Given the description of an element on the screen output the (x, y) to click on. 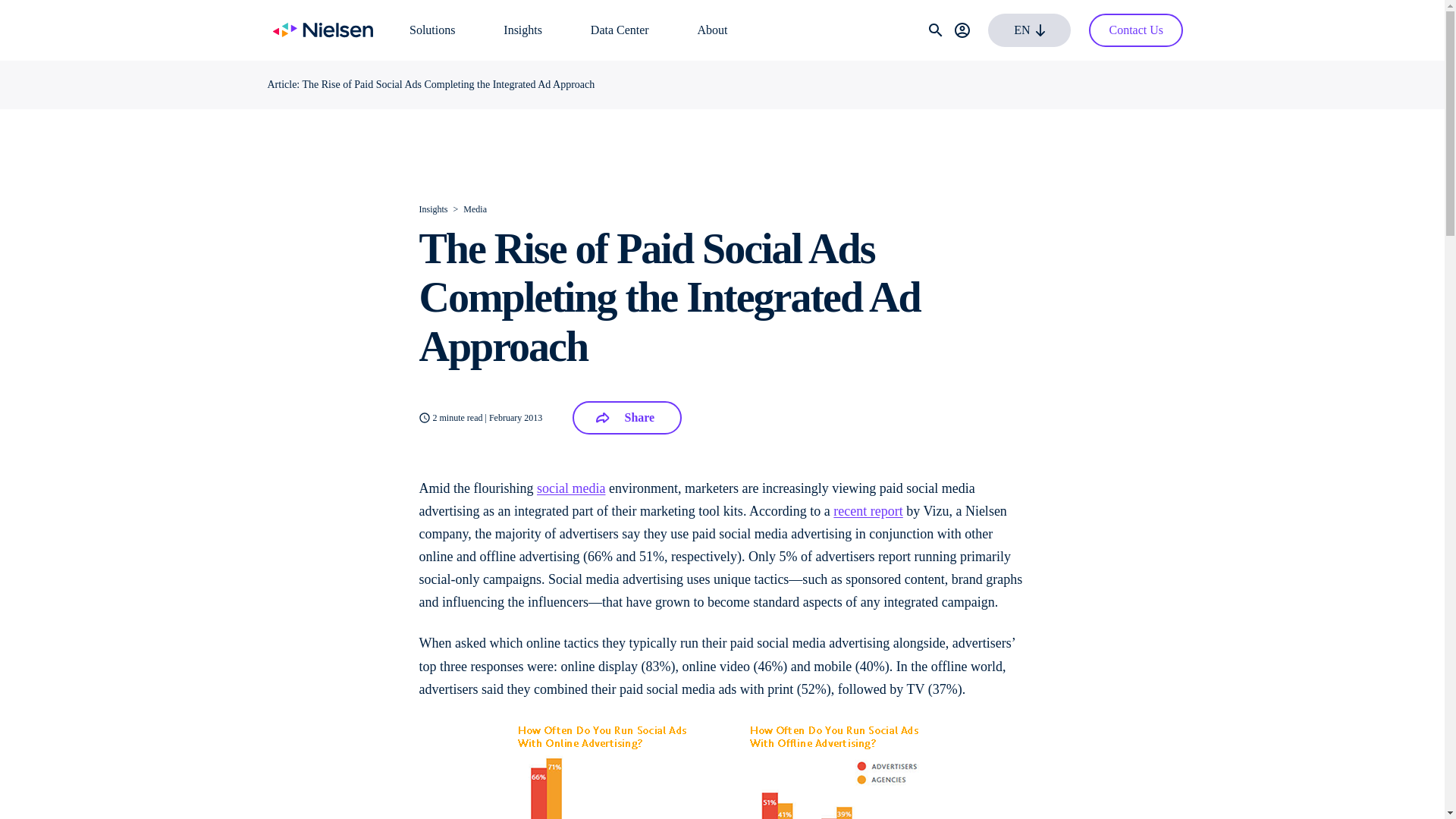
paid social pic (721, 769)
Insights (522, 29)
Solutions (431, 29)
